Given the description of an element on the screen output the (x, y) to click on. 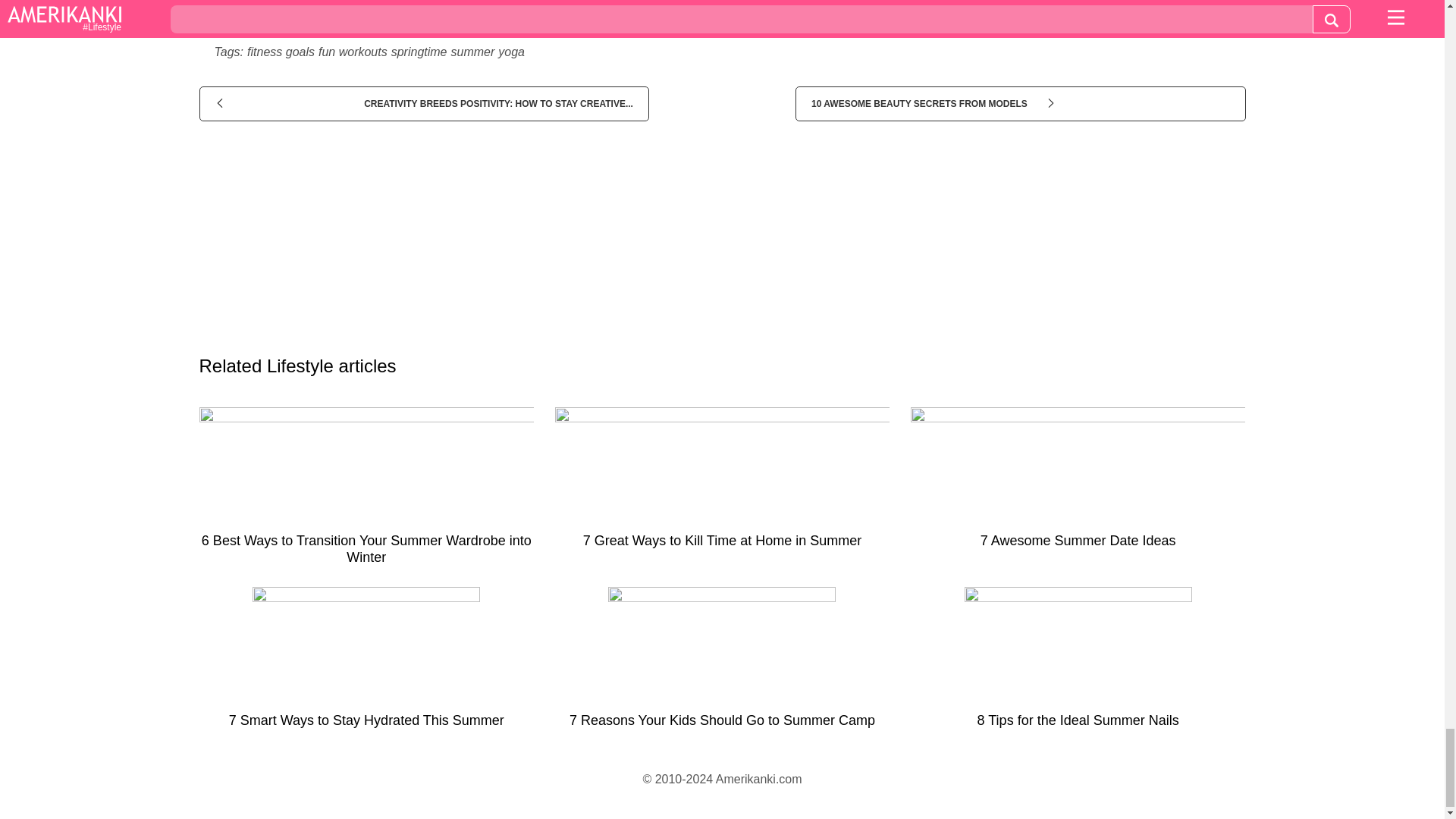
Share on Twitter (748, 13)
10 Awesome Beauty Secrets from Models (1019, 103)
Share on Facebook (381, 13)
